Given the description of an element on the screen output the (x, y) to click on. 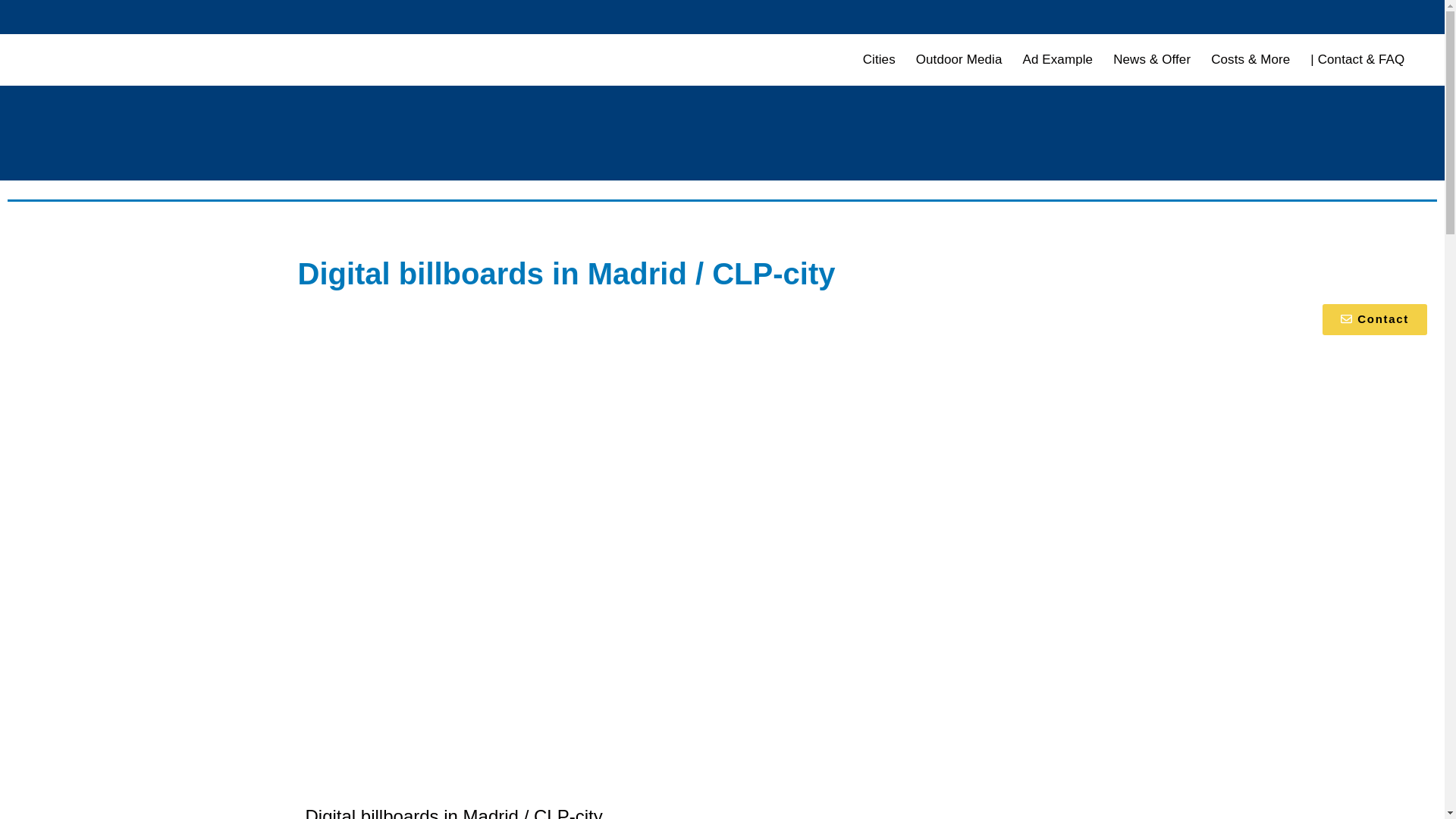
Outdoor Media (958, 59)
Ad Example (1058, 59)
Cities (879, 59)
